Given the description of an element on the screen output the (x, y) to click on. 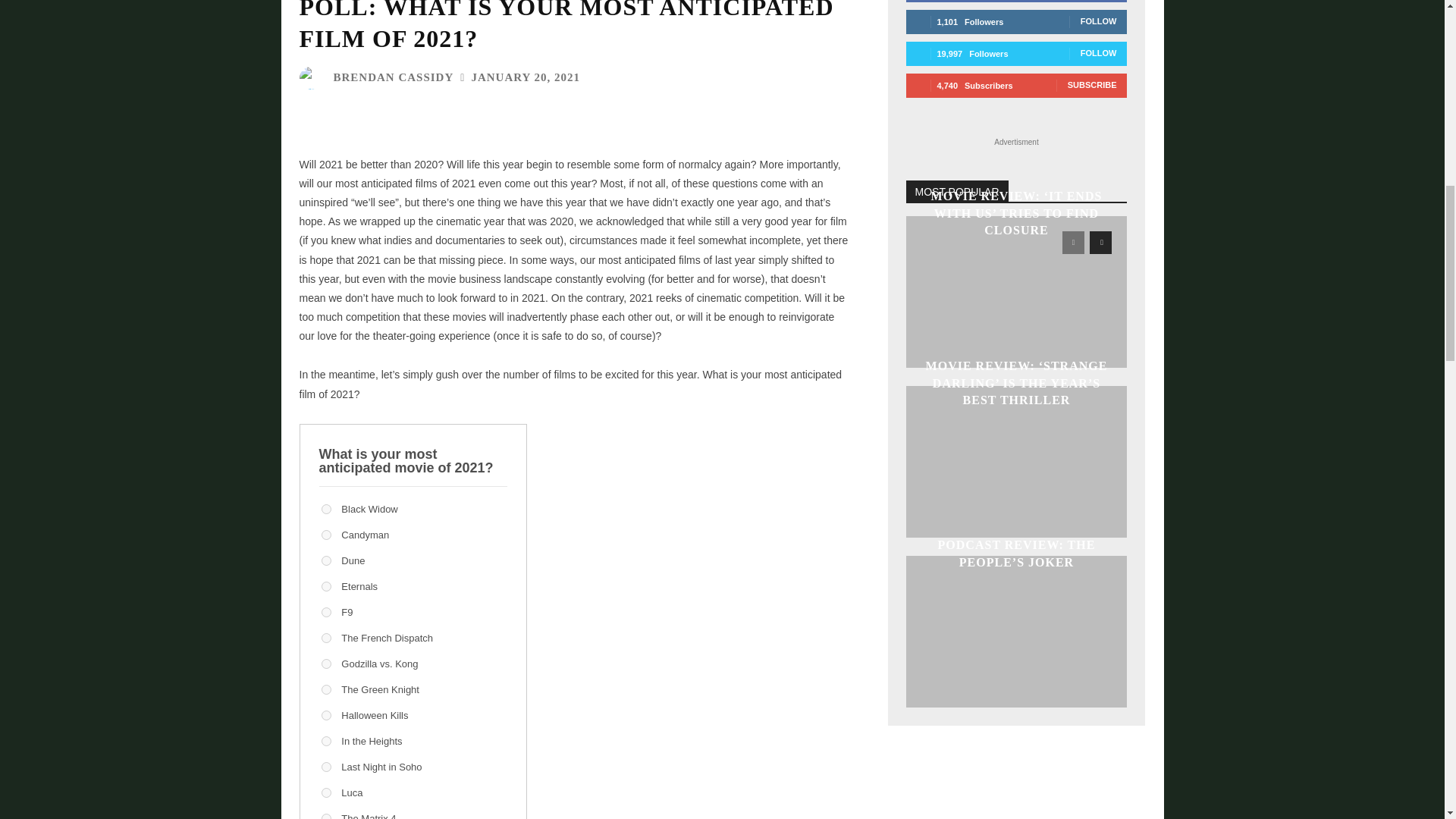
49550024 (326, 612)
49554280 (326, 689)
49550027 (326, 741)
49550029 (326, 816)
49550022 (326, 534)
49550025 (326, 664)
49550023 (326, 586)
49554274 (326, 637)
49550028 (326, 767)
49550021 (326, 509)
